Given the description of an element on the screen output the (x, y) to click on. 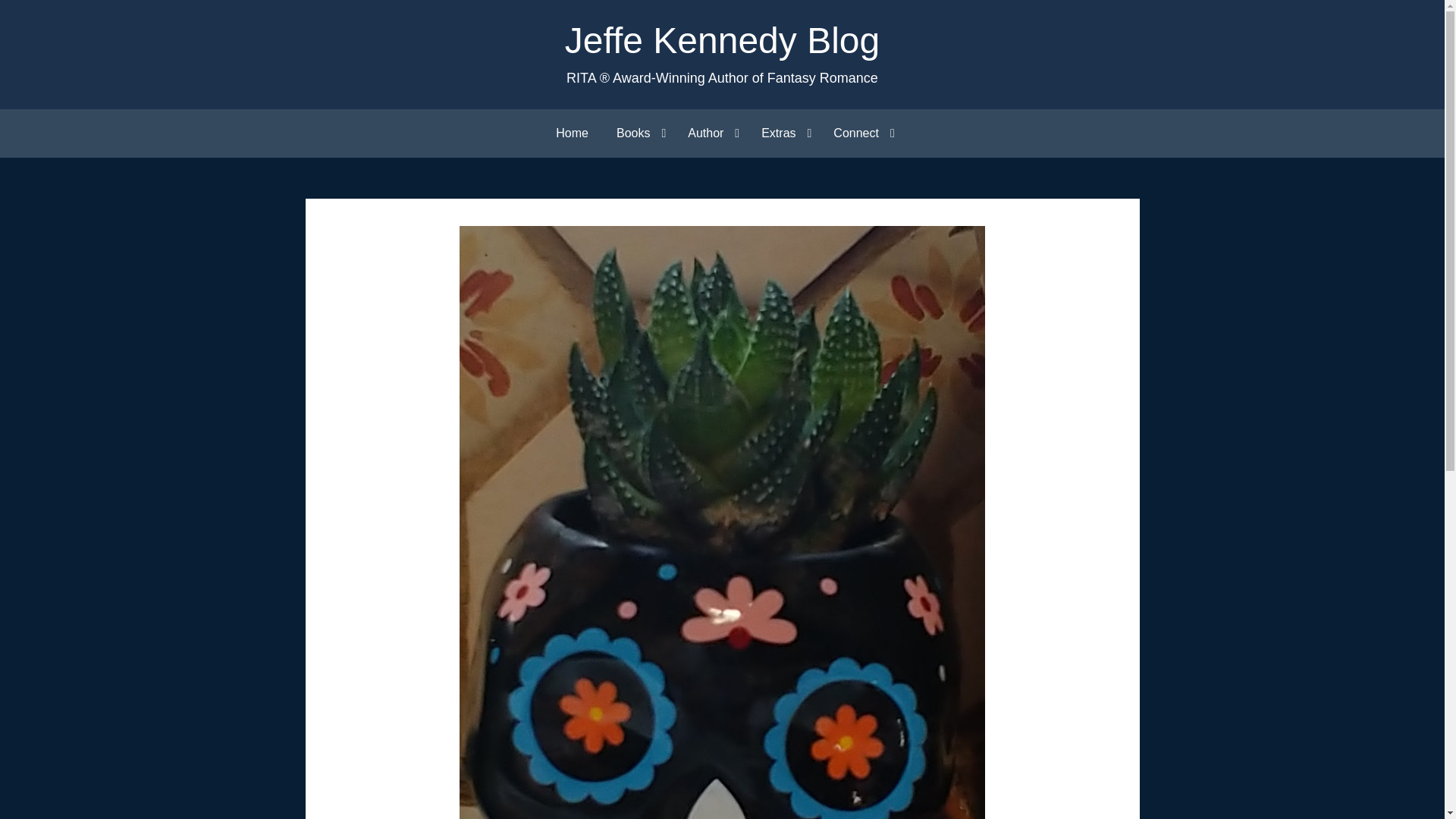
Connect (860, 133)
Books (637, 133)
Extras (782, 133)
Author (710, 133)
Home (571, 133)
Jeffe Kennedy Blog (721, 40)
